Given the description of an element on the screen output the (x, y) to click on. 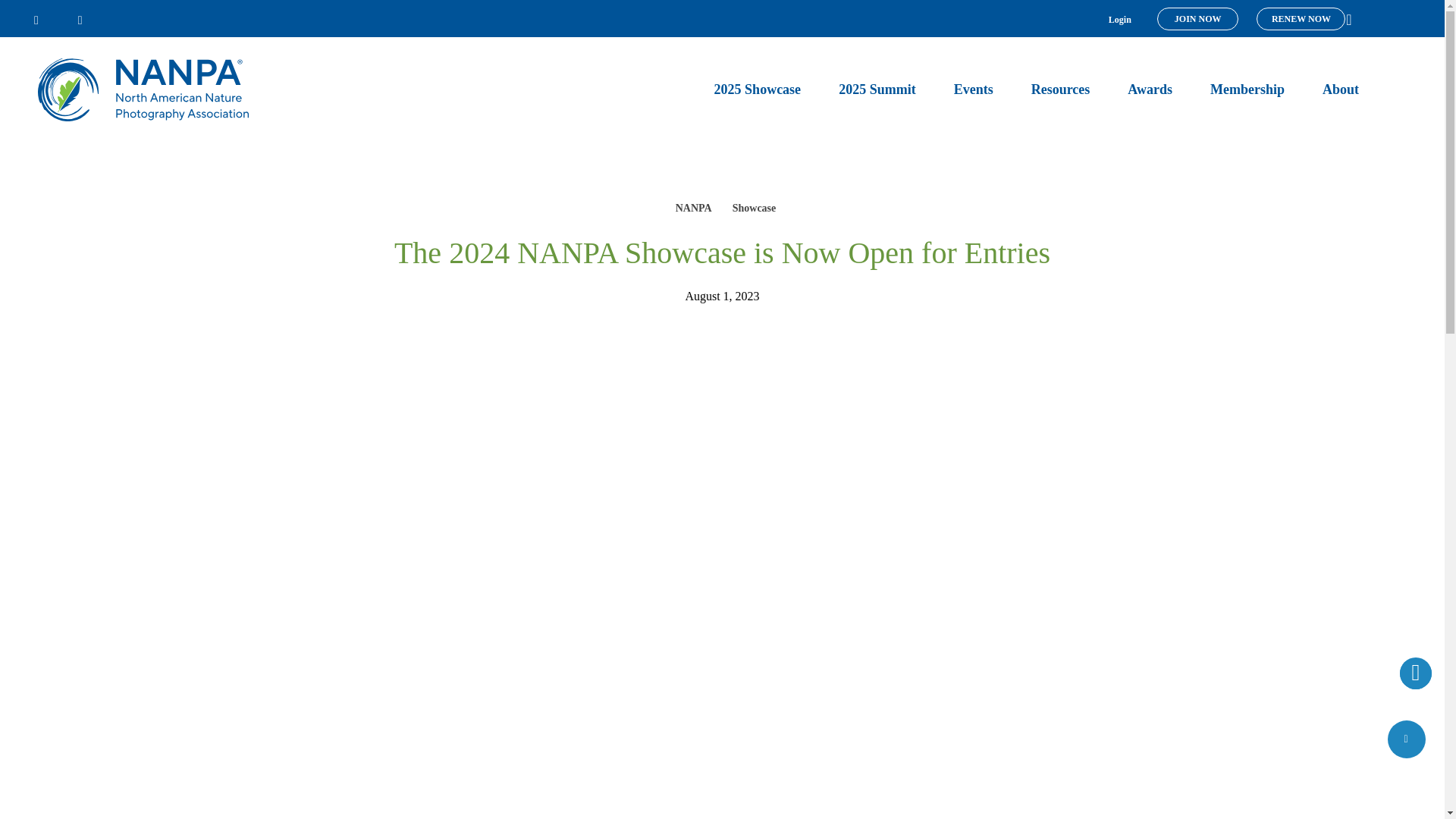
2025 Summit (876, 89)
Resources (1060, 89)
2025 Showcase (758, 89)
JOIN NOW (1197, 18)
Events (972, 89)
Login (1119, 19)
RENEW NOW (1300, 18)
